Given the description of an element on the screen output the (x, y) to click on. 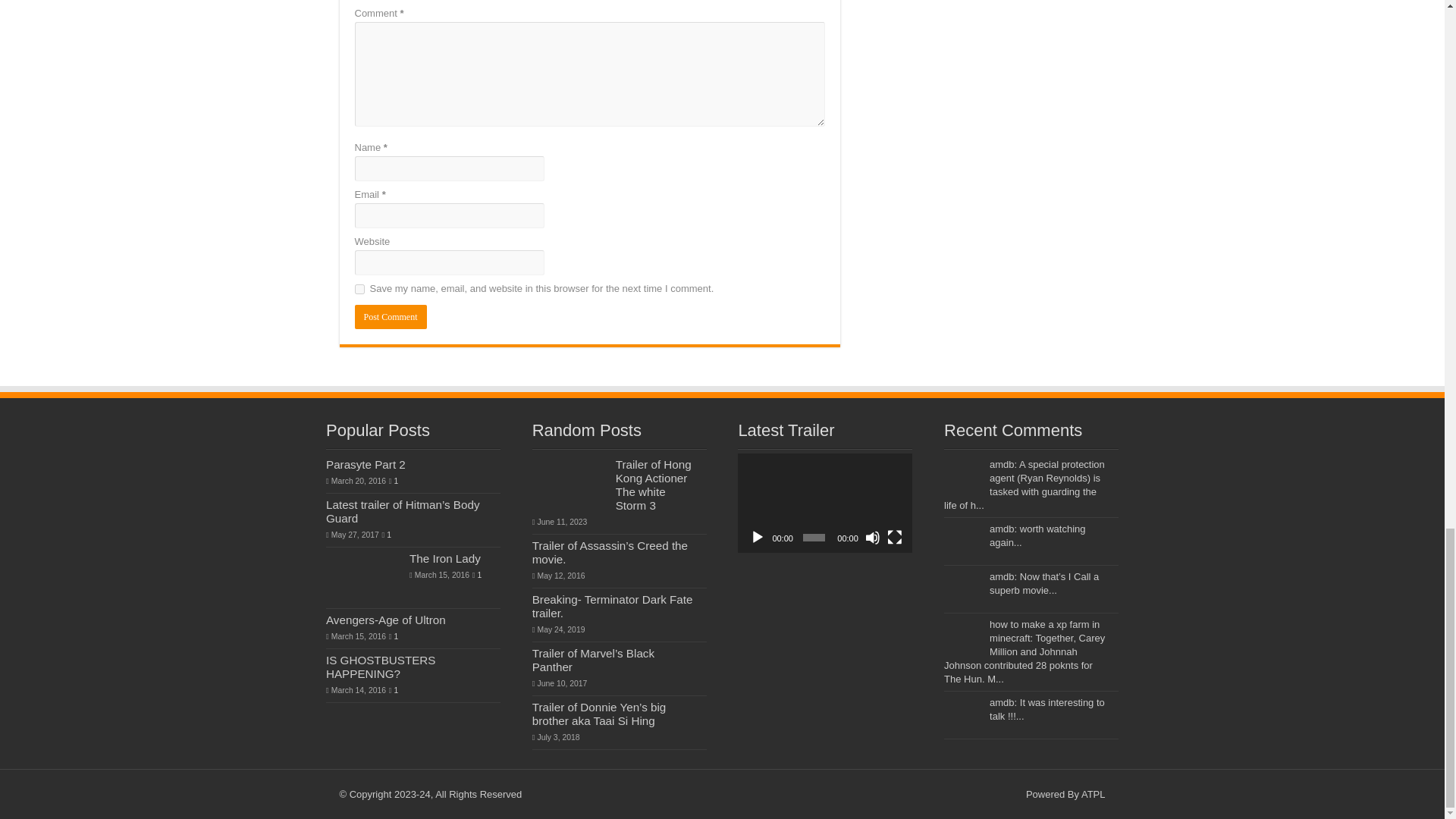
Post Comment (390, 316)
yes (360, 289)
